Given the description of an element on the screen output the (x, y) to click on. 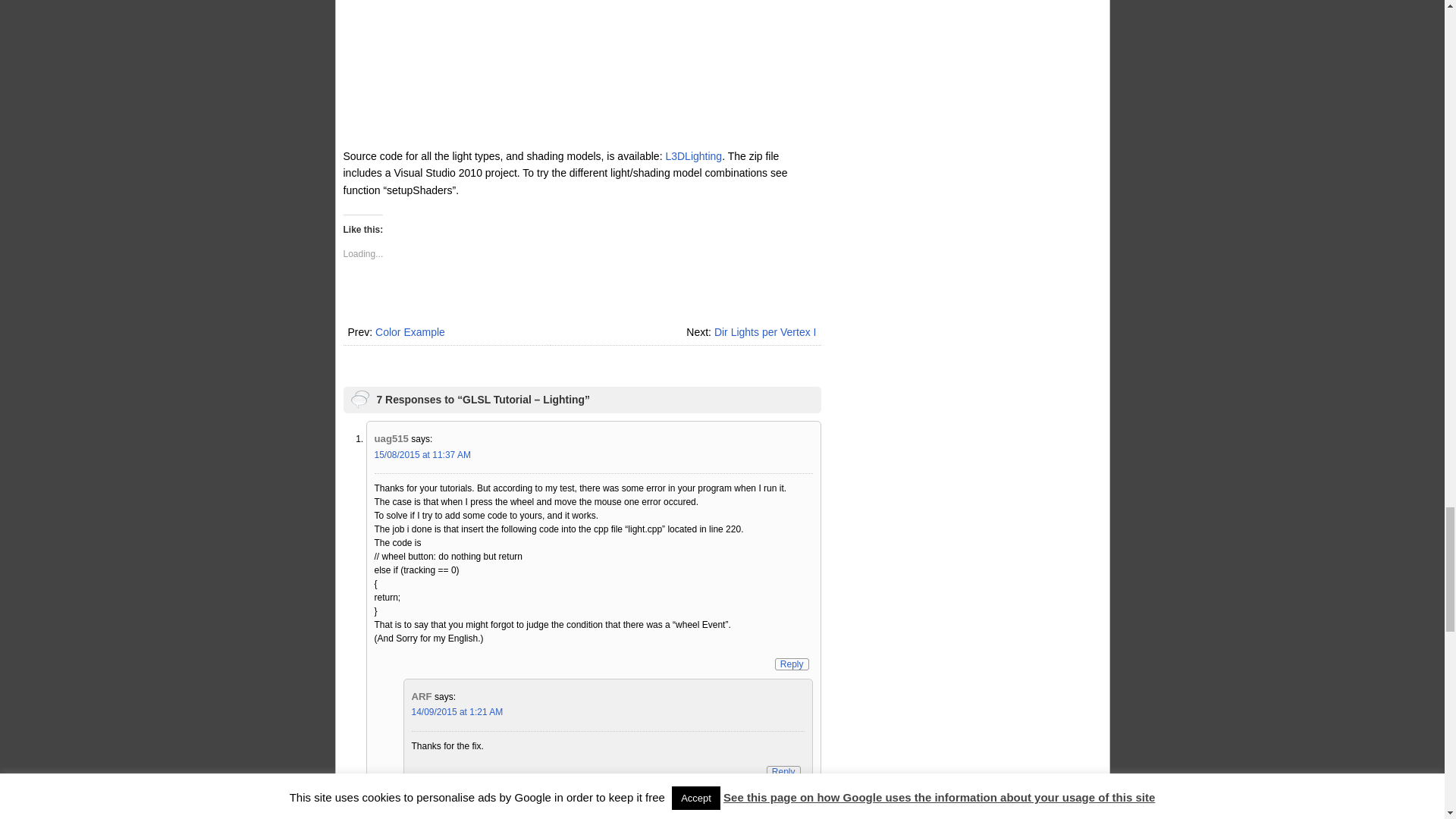
Dir Lights per Vertex I (765, 331)
Reply (783, 771)
Color Example (410, 331)
L3DLighting (693, 155)
Dir Lights per Vertex I (765, 331)
Color Example (410, 331)
Advertisement (581, 74)
uag515 (391, 438)
Reply (791, 664)
